Given the description of an element on the screen output the (x, y) to click on. 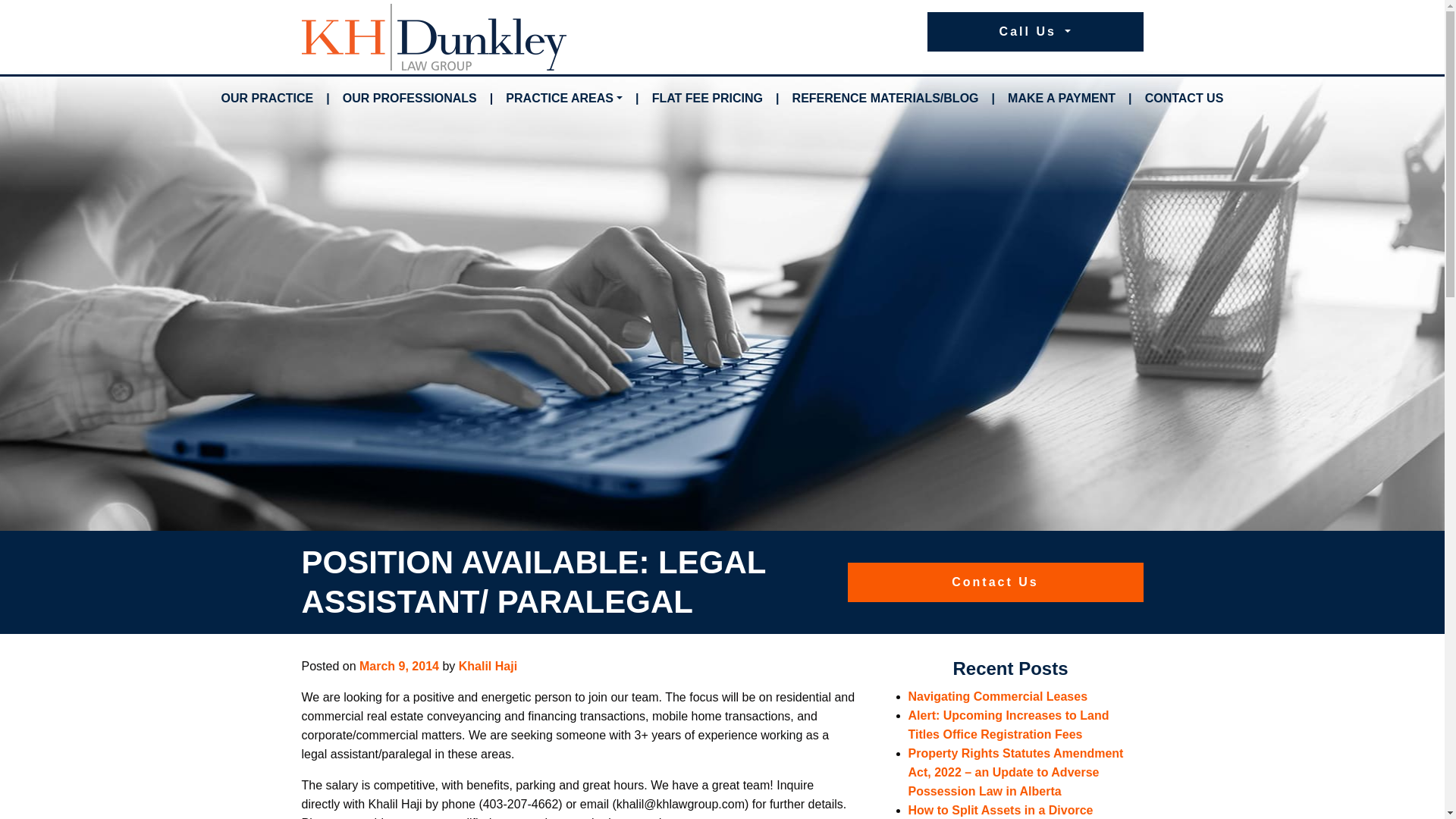
Flat Fee Pricing (707, 97)
How to Split Assets in a Divorce (1000, 809)
Contact Us (1184, 97)
MAKE A PAYMENT (1061, 97)
OUR PROFESSIONALS (409, 97)
Navigating Commercial Leases (997, 696)
CONTACT US (1184, 97)
Our Professionals (409, 97)
FLAT FEE PRICING (707, 97)
OUR PRACTICE (267, 97)
Contact Us (994, 581)
March 9, 2014 (399, 666)
Call Us (1034, 31)
PRACTICE AREAS (563, 97)
